Given the description of an element on the screen output the (x, y) to click on. 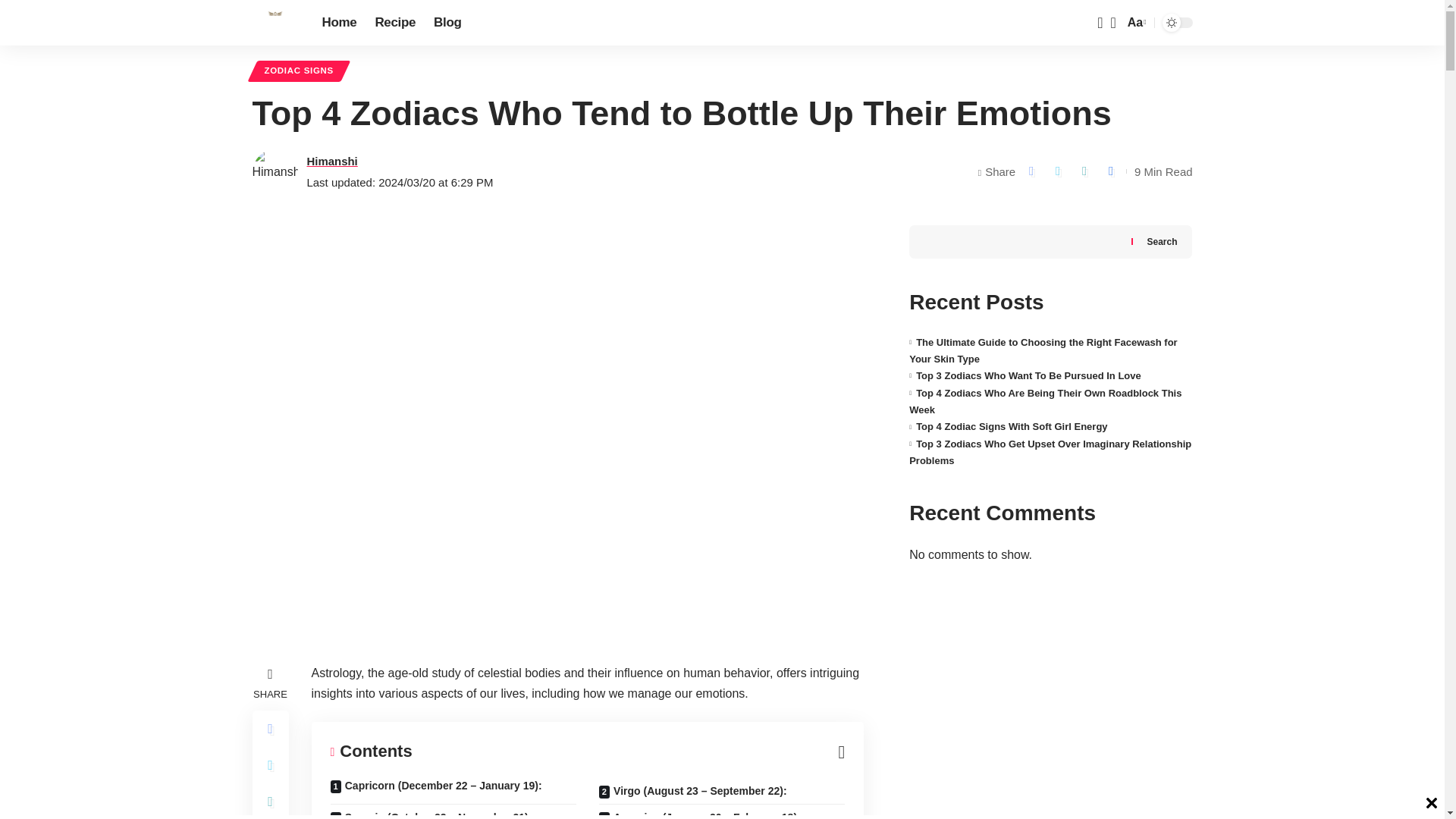
Aa (1135, 22)
ZODIAC SIGNS (298, 70)
Himanshi (330, 160)
Angelstreeserviceatx (274, 22)
Recipe (395, 22)
Blog (447, 22)
Home (339, 22)
